Given the description of an element on the screen output the (x, y) to click on. 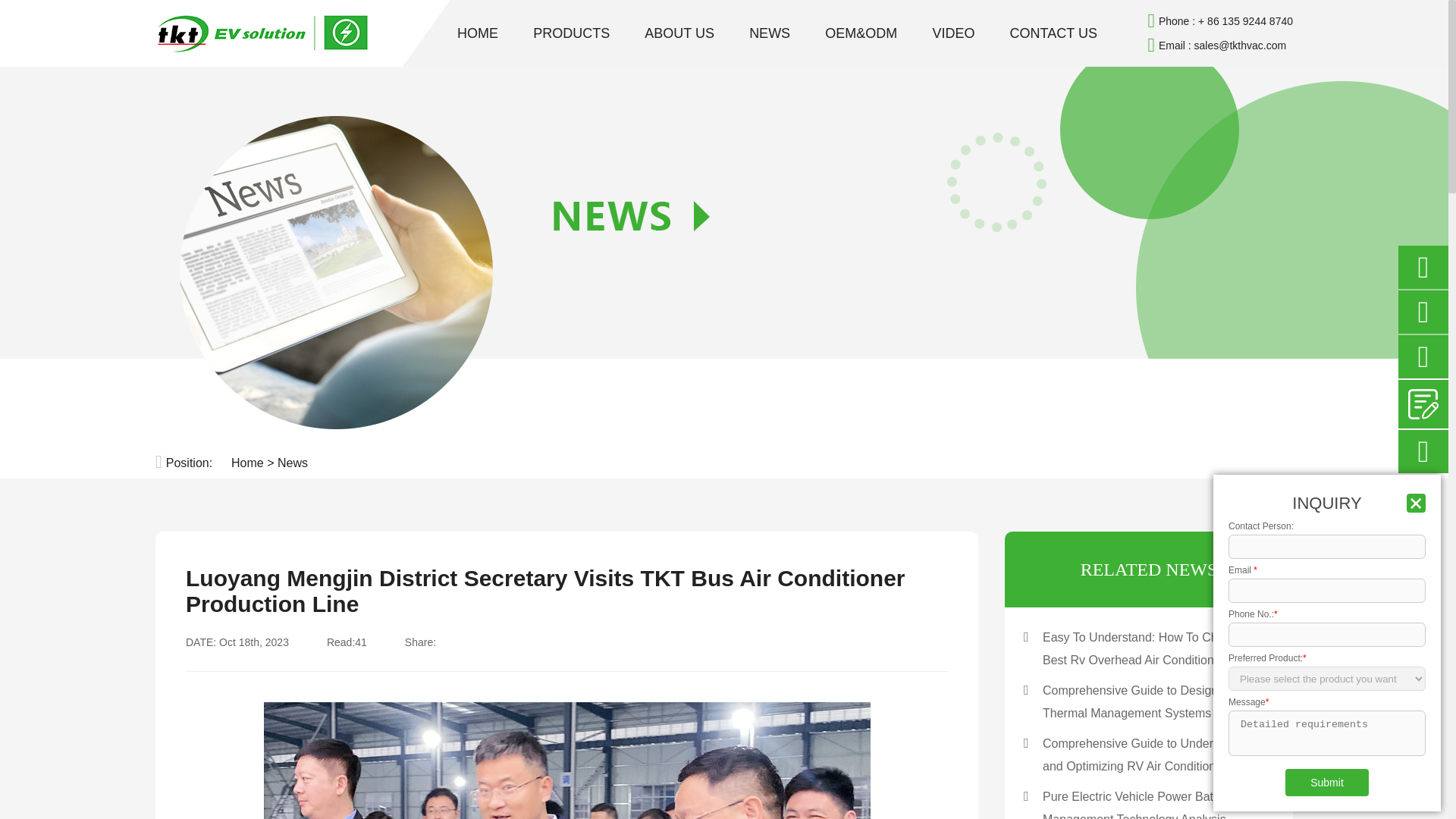
ABOUT US (679, 33)
CONTACT US (1053, 33)
PRODUCTS (571, 33)
